Given the description of an element on the screen output the (x, y) to click on. 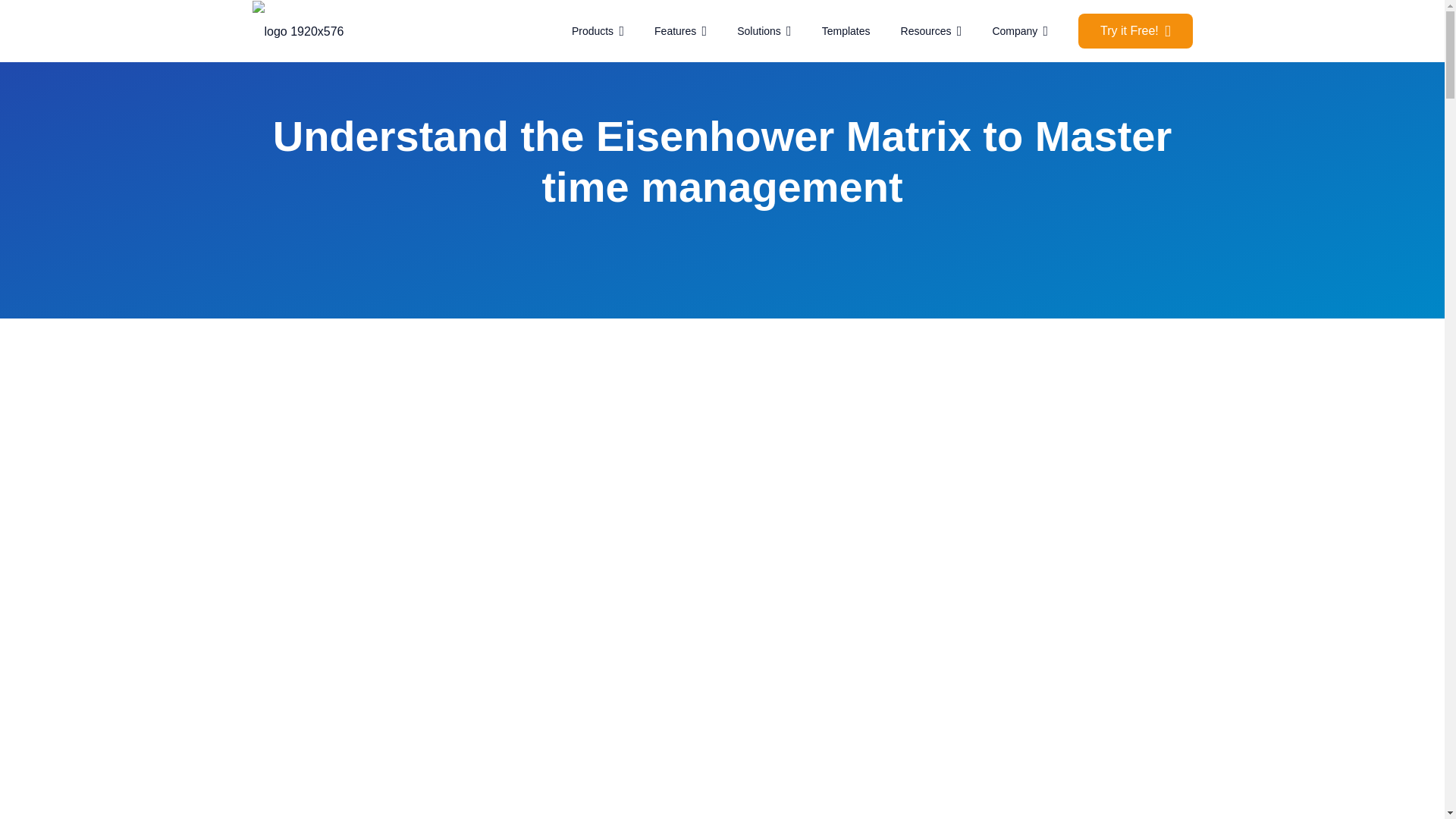
Company (1019, 31)
Features (680, 31)
Solutions (764, 31)
Products (597, 31)
Try it Free! (1135, 30)
Resources (930, 31)
Templates (845, 31)
